Given the description of an element on the screen output the (x, y) to click on. 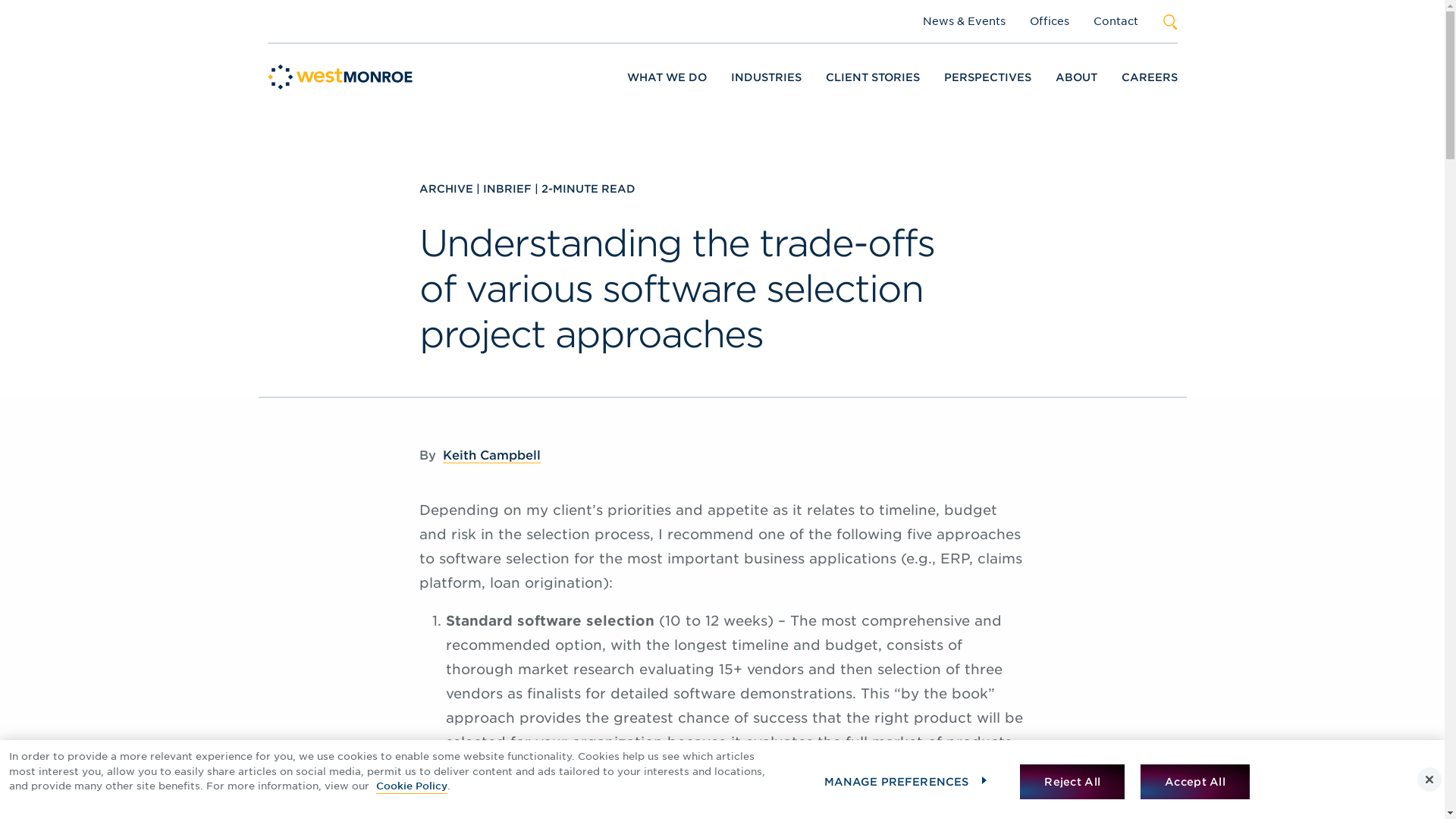
Offices (1048, 21)
Contact (1115, 21)
WHAT WE DO (666, 76)
